Given the description of an element on the screen output the (x, y) to click on. 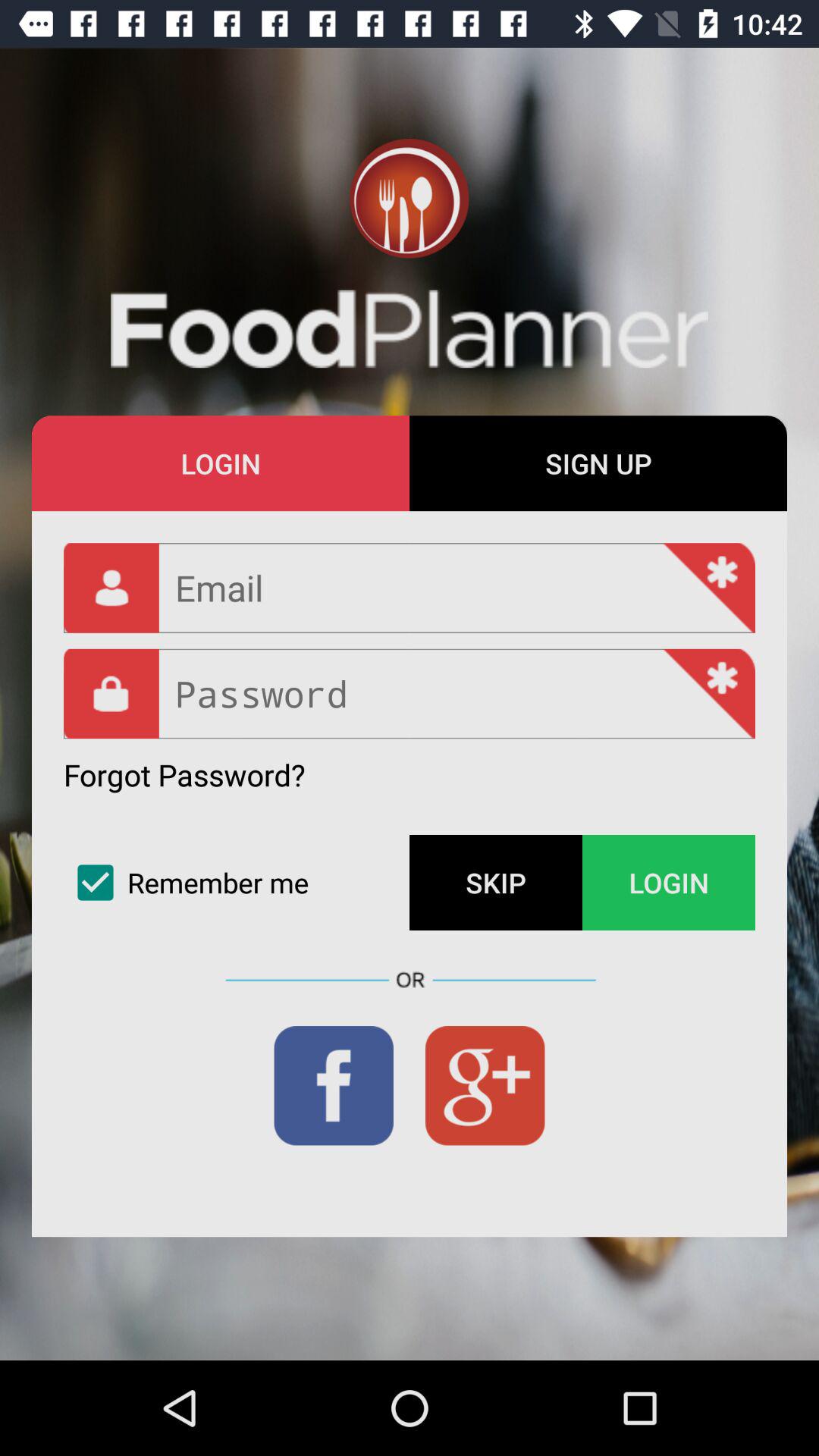
select the remember me item (236, 882)
